Given the description of an element on the screen output the (x, y) to click on. 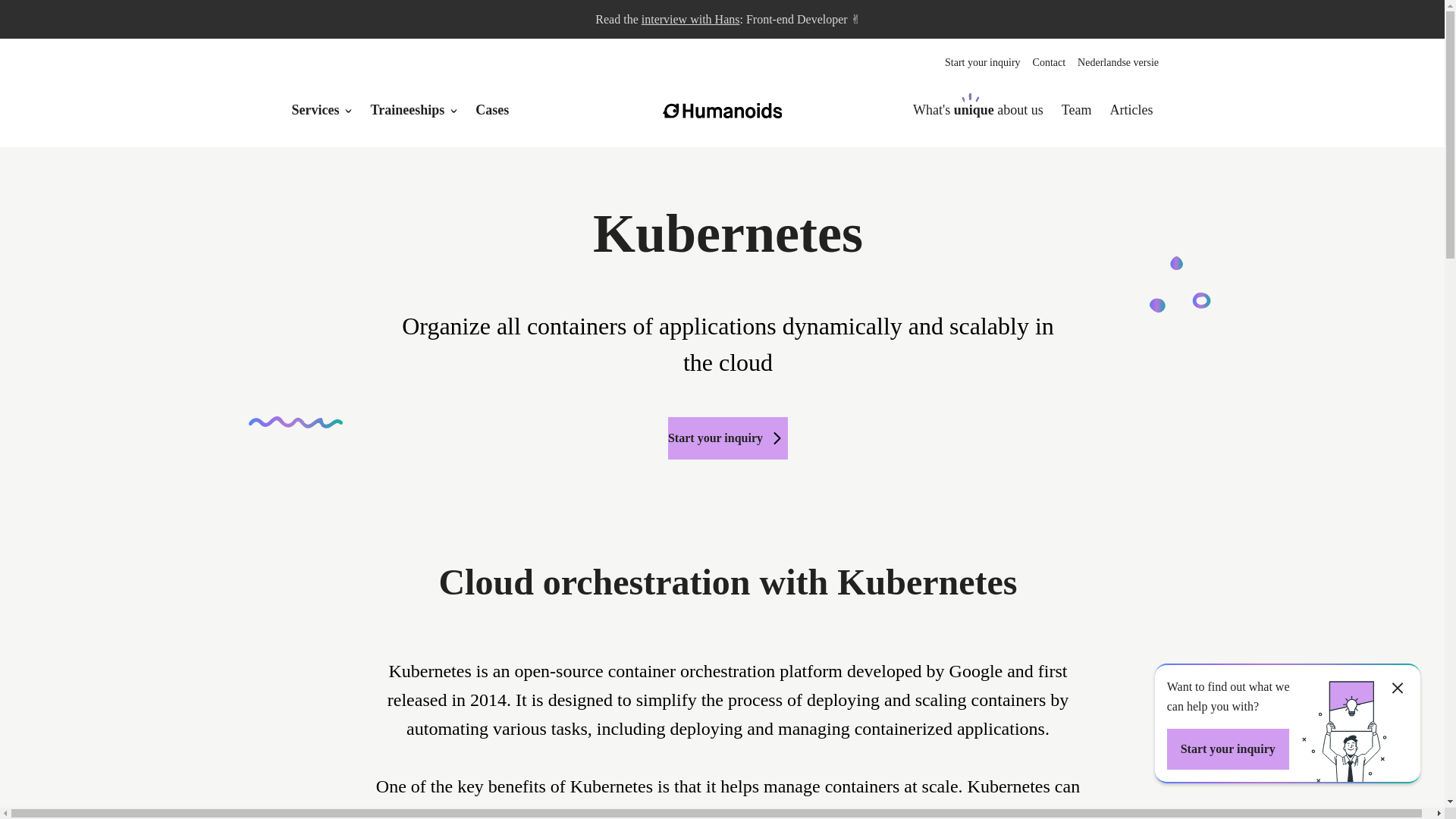
Contact (1048, 62)
Start your inquiry (982, 62)
Services (315, 109)
Traineeships (406, 109)
Nederlandse versie (1117, 62)
interview with Hans (690, 19)
